Given the description of an element on the screen output the (x, y) to click on. 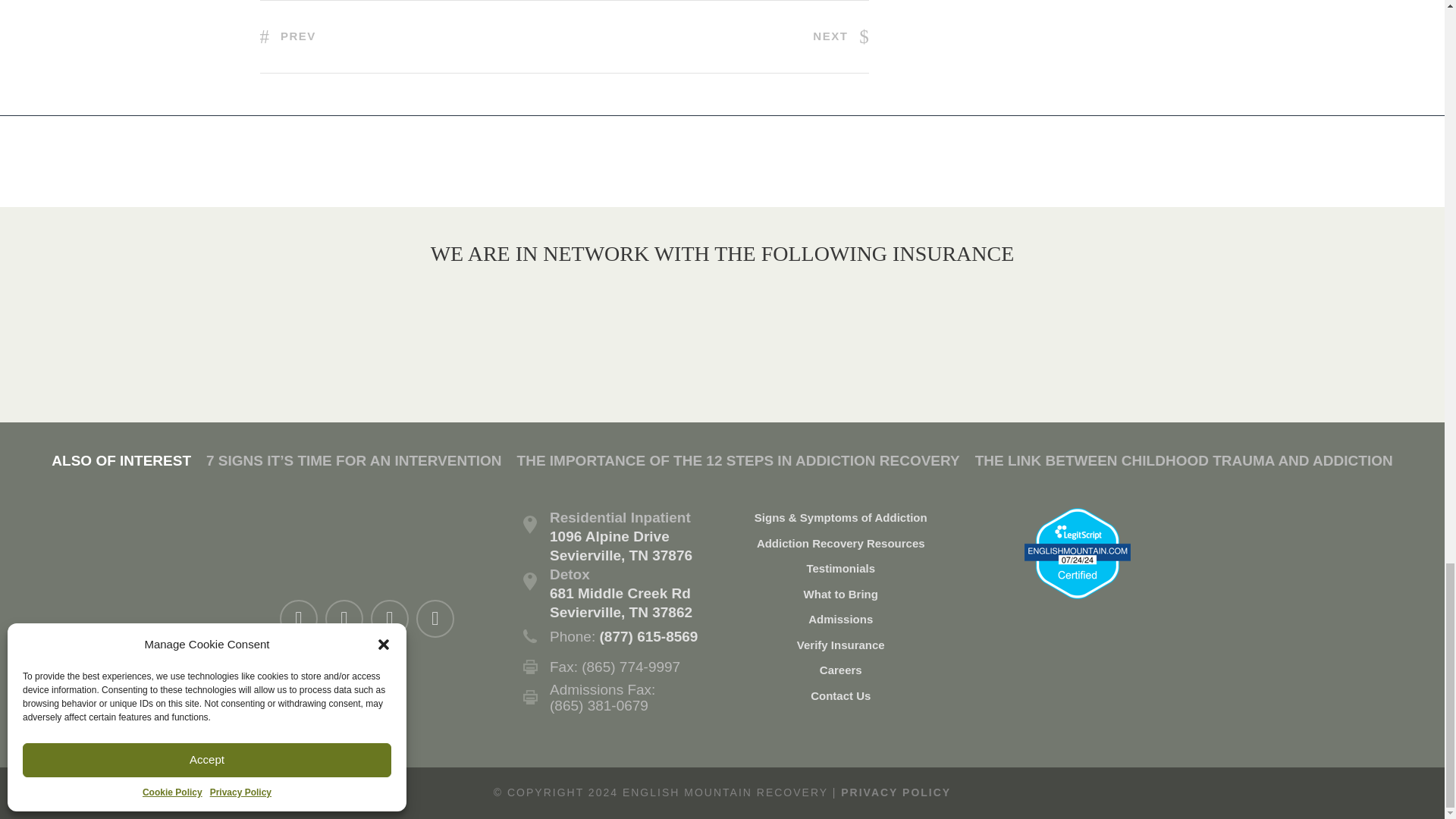
instagram (435, 618)
Aetna insurance (608, 320)
youtube (390, 618)
linkedin (343, 618)
English Mountain Recovery Center (361, 538)
facebook (298, 618)
Verify LegitScript Approval (1078, 552)
